Given the description of an element on the screen output the (x, y) to click on. 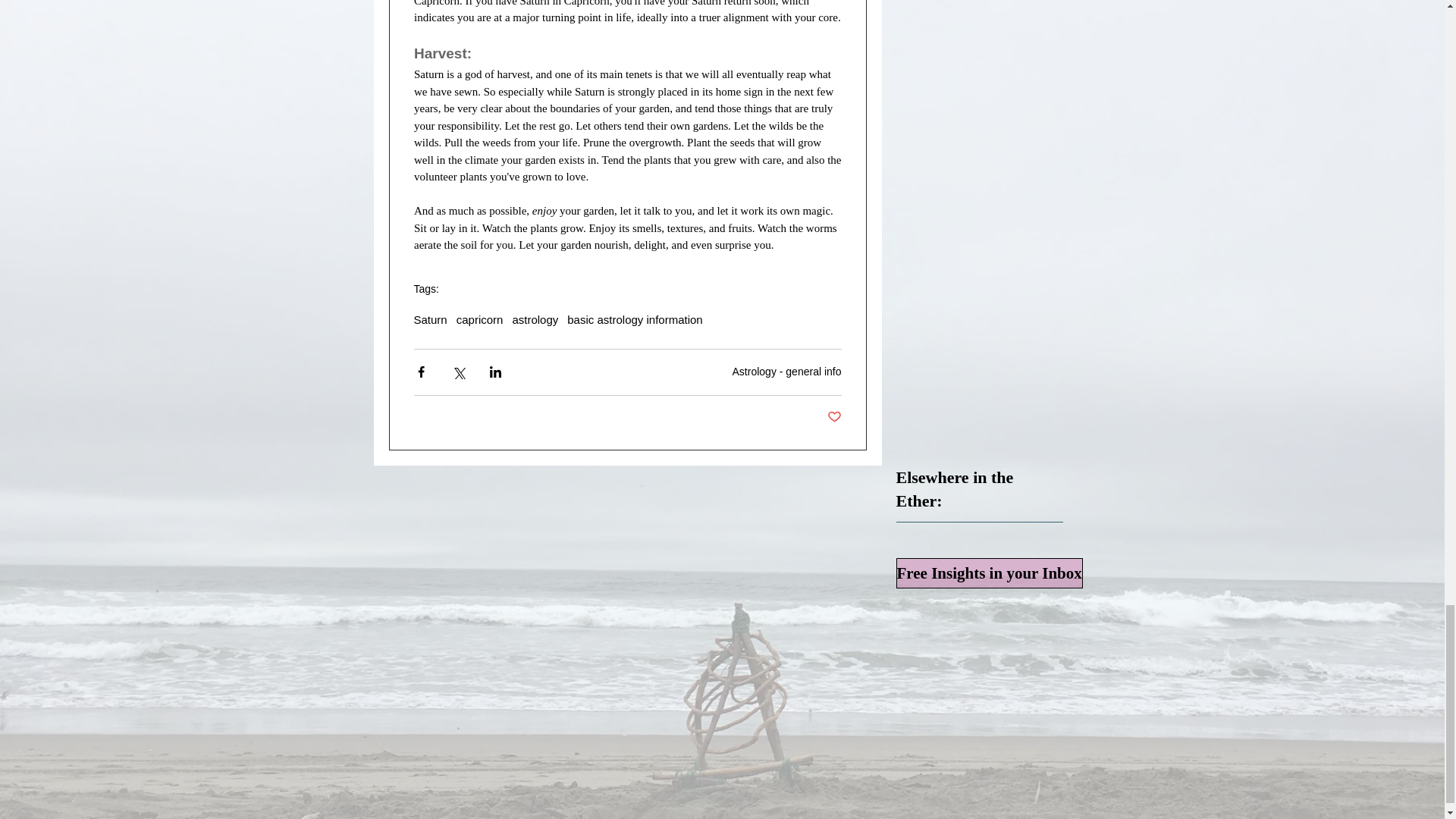
capricorn (480, 318)
Saturn (429, 318)
Astrology - general info (786, 371)
astrology (534, 318)
Post not marked as liked (834, 417)
basic astrology information (634, 318)
